Given the description of an element on the screen output the (x, y) to click on. 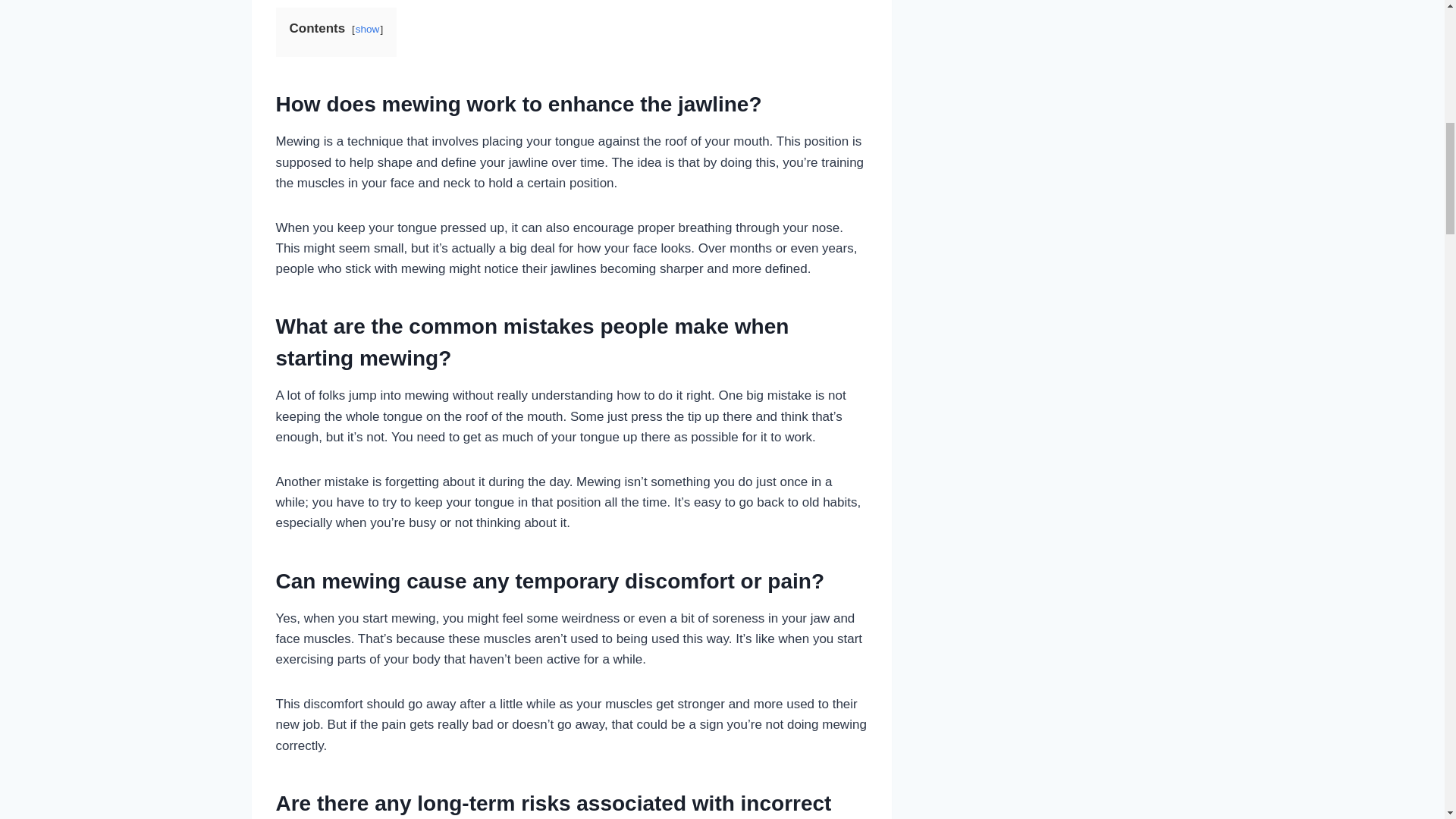
show (367, 29)
